Given the description of an element on the screen output the (x, y) to click on. 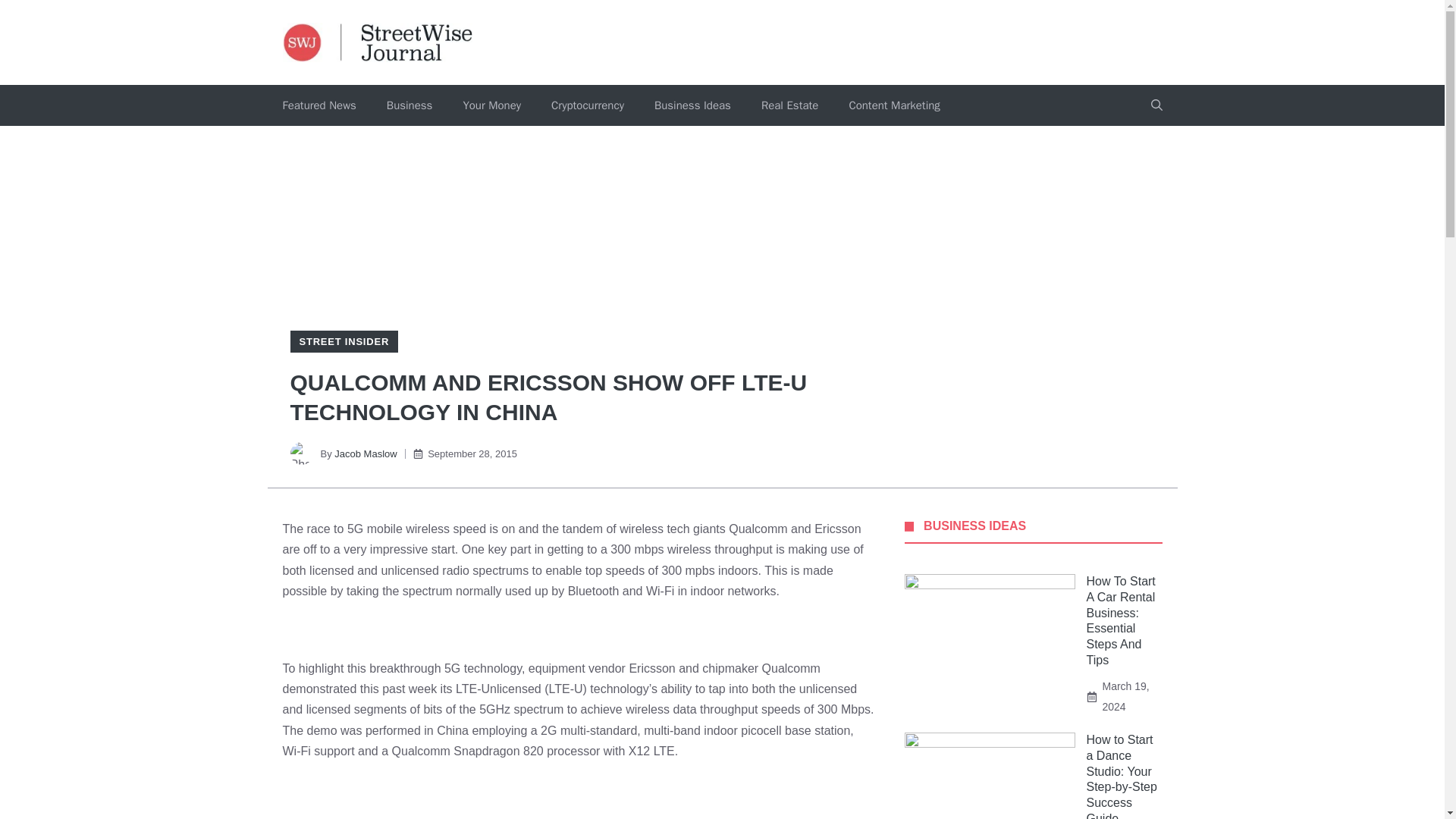
Your Money (490, 105)
Cryptocurrency (587, 105)
Business Ideas (692, 105)
Jacob Maslow (365, 453)
Featured News (318, 105)
STREET INSIDER (343, 341)
Real Estate (788, 105)
Business (409, 105)
Content Marketing (893, 105)
